Given the description of an element on the screen output the (x, y) to click on. 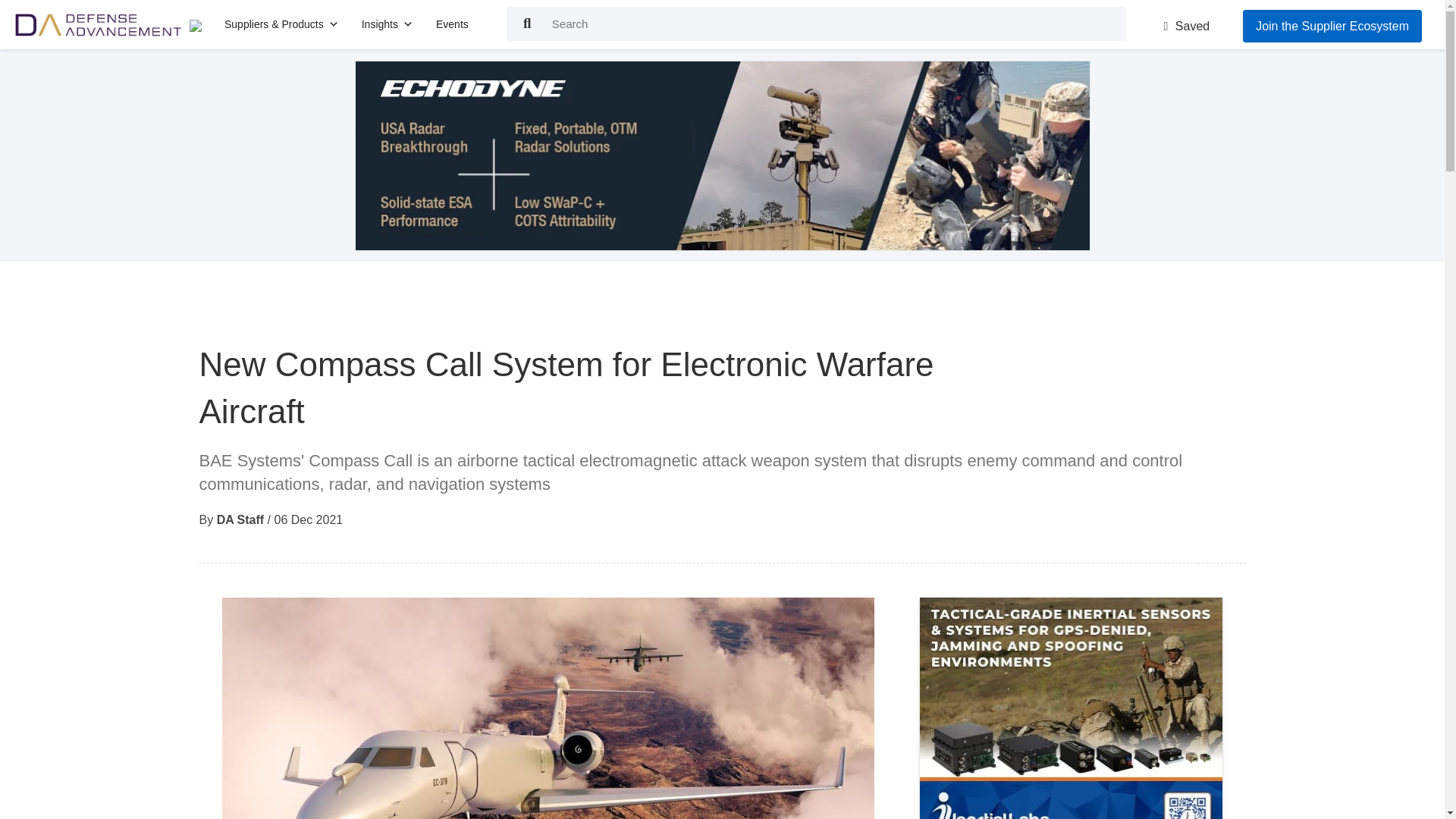
Insights (386, 24)
Saved (1186, 25)
Join the Supplier Ecosystem (1332, 25)
Events (452, 24)
